Given the description of an element on the screen output the (x, y) to click on. 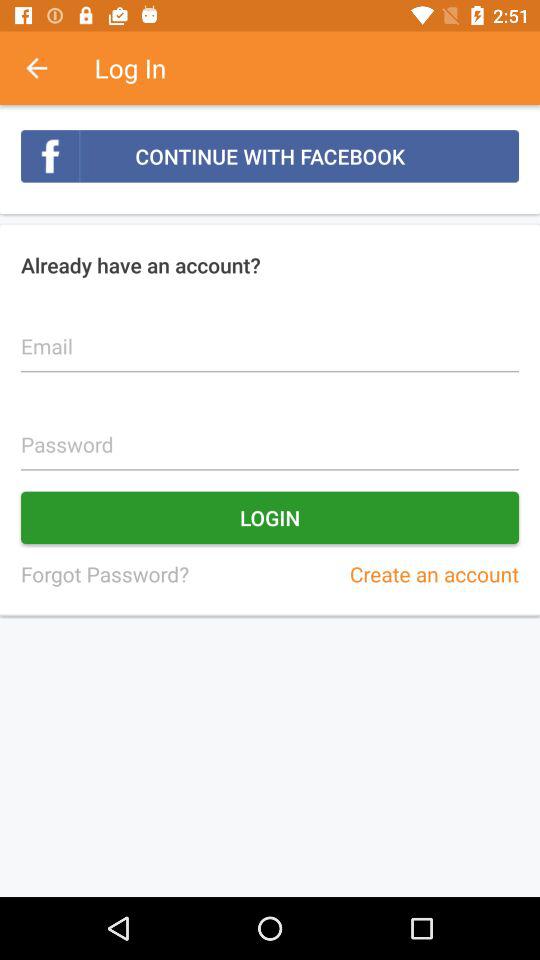
jump to the continue with facebook (270, 156)
